Given the description of an element on the screen output the (x, y) to click on. 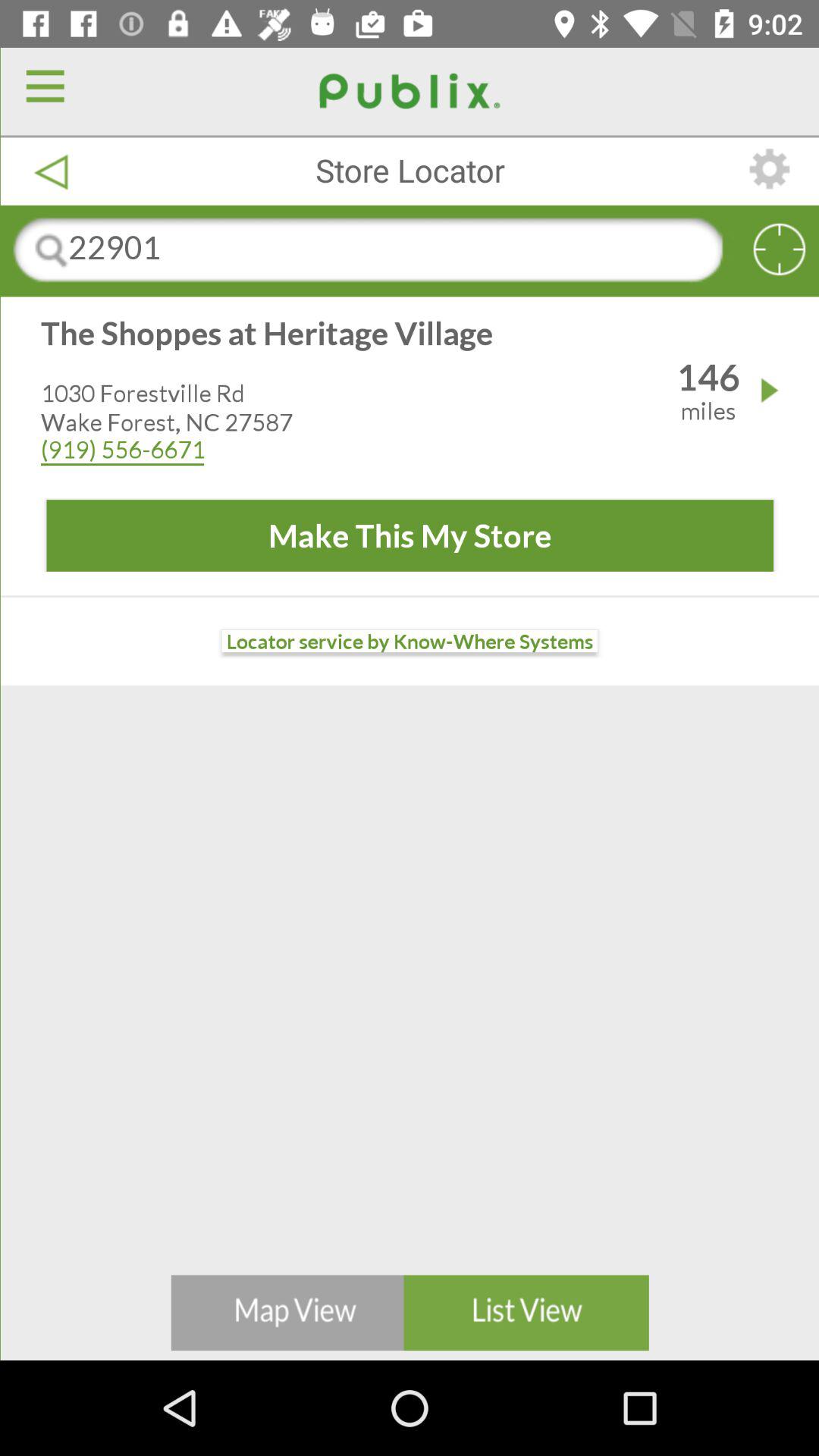
click the button below store locator (409, 251)
